Given the description of an element on the screen output the (x, y) to click on. 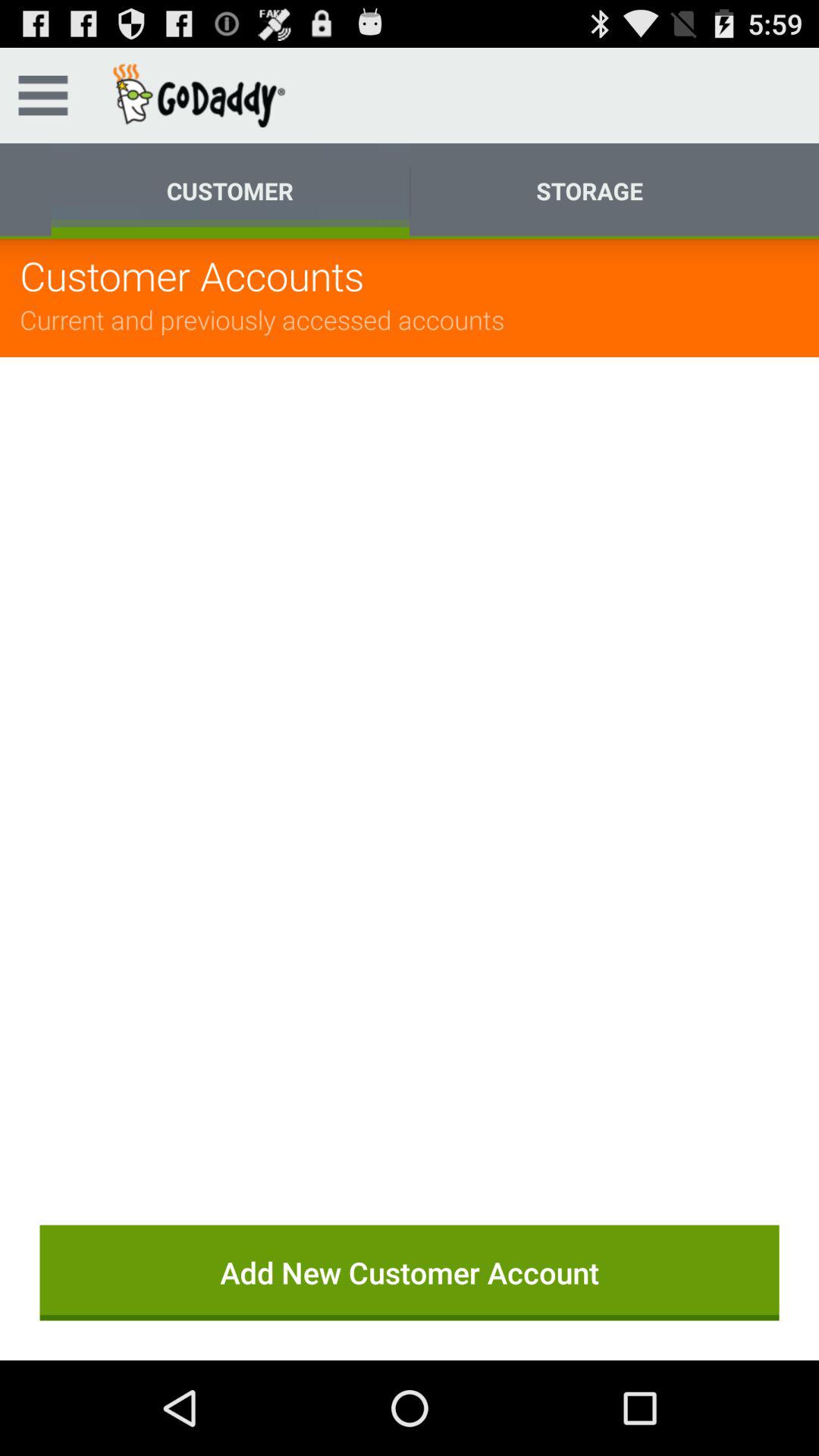
select the item at the center (409, 771)
